Given the description of an element on the screen output the (x, y) to click on. 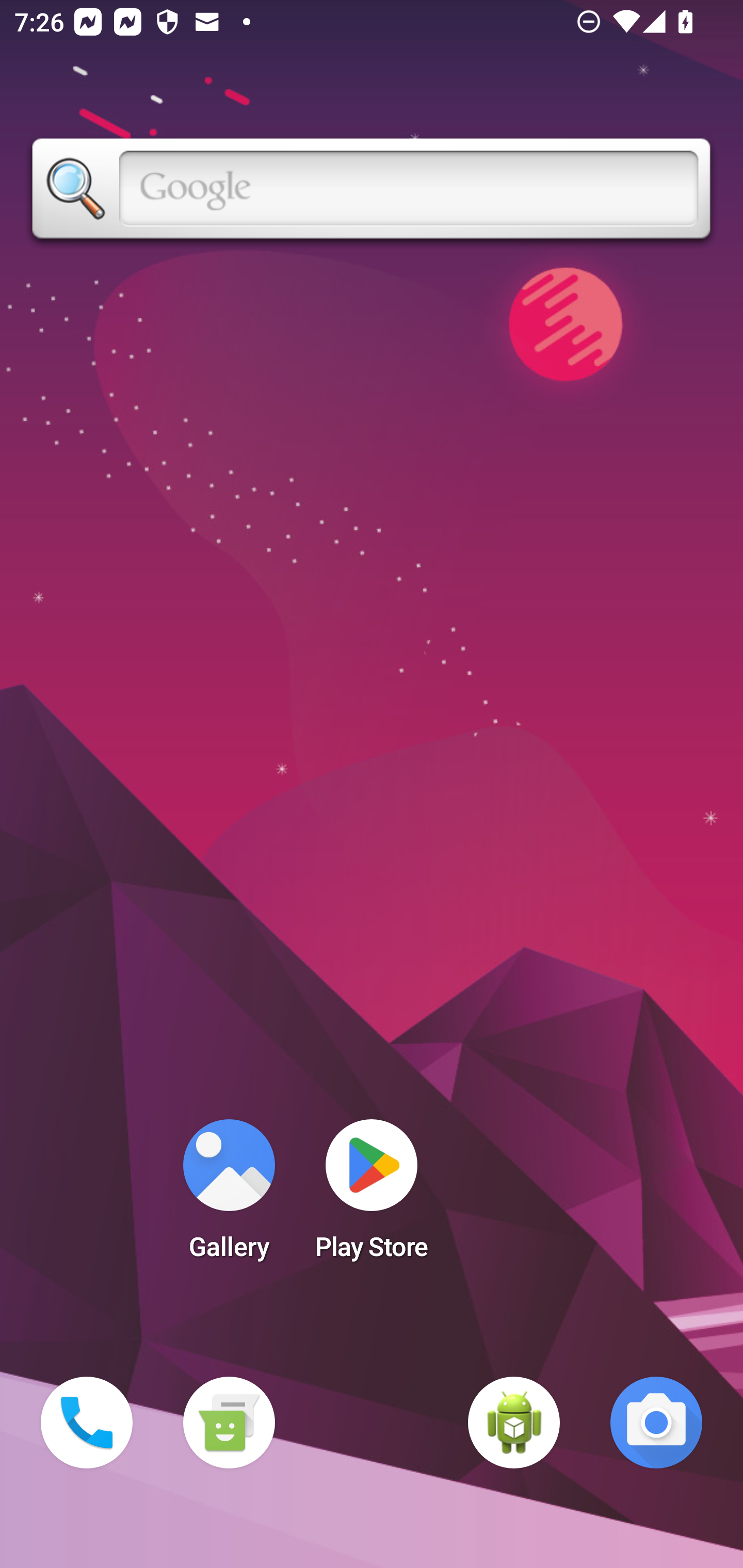
Gallery (228, 1195)
Play Store (371, 1195)
Phone (86, 1422)
Messaging (228, 1422)
WebView Browser Tester (513, 1422)
Camera (656, 1422)
